Given the description of an element on the screen output the (x, y) to click on. 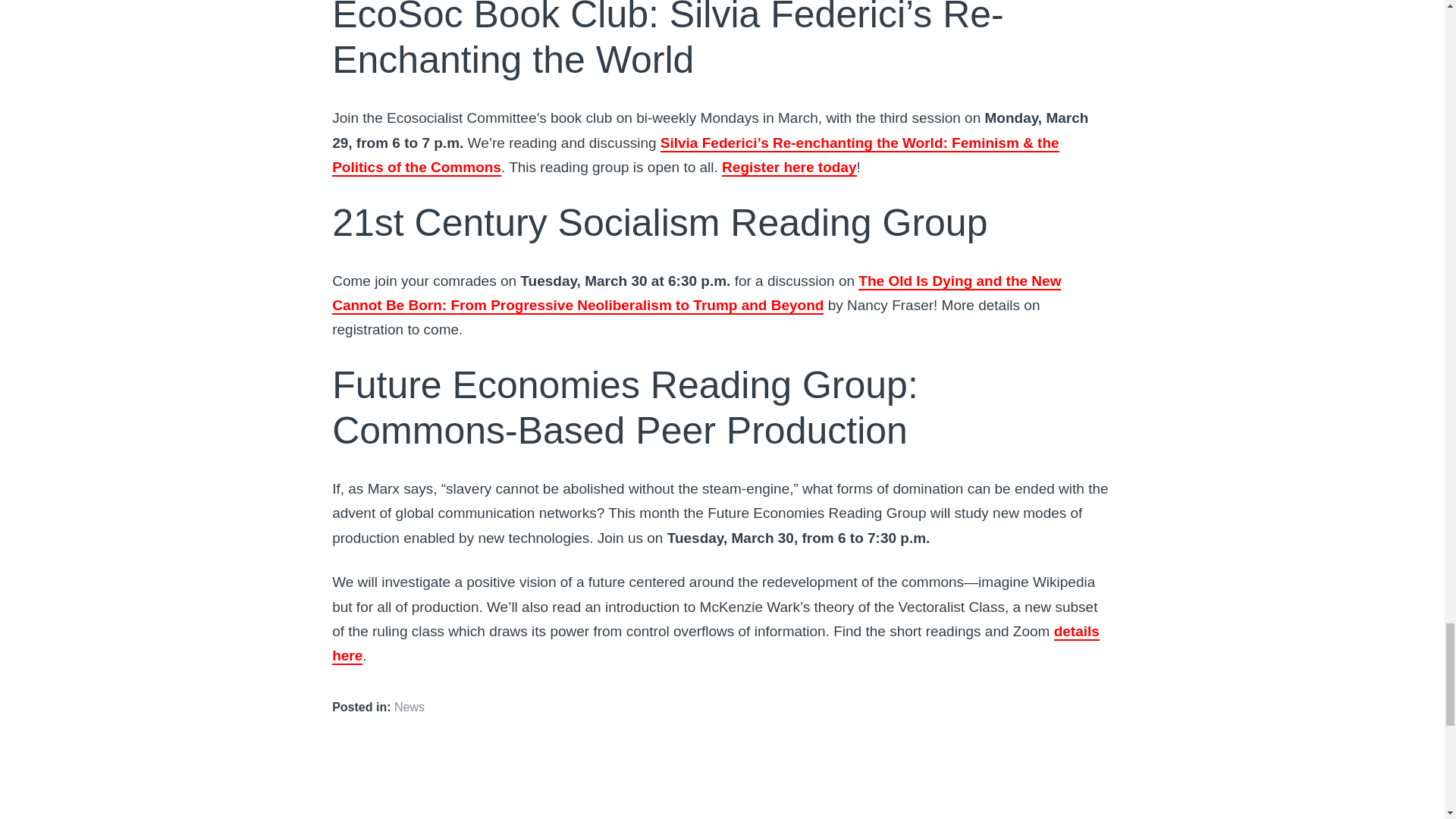
details here (715, 644)
News (409, 707)
Register here today (789, 167)
